Given the description of an element on the screen output the (x, y) to click on. 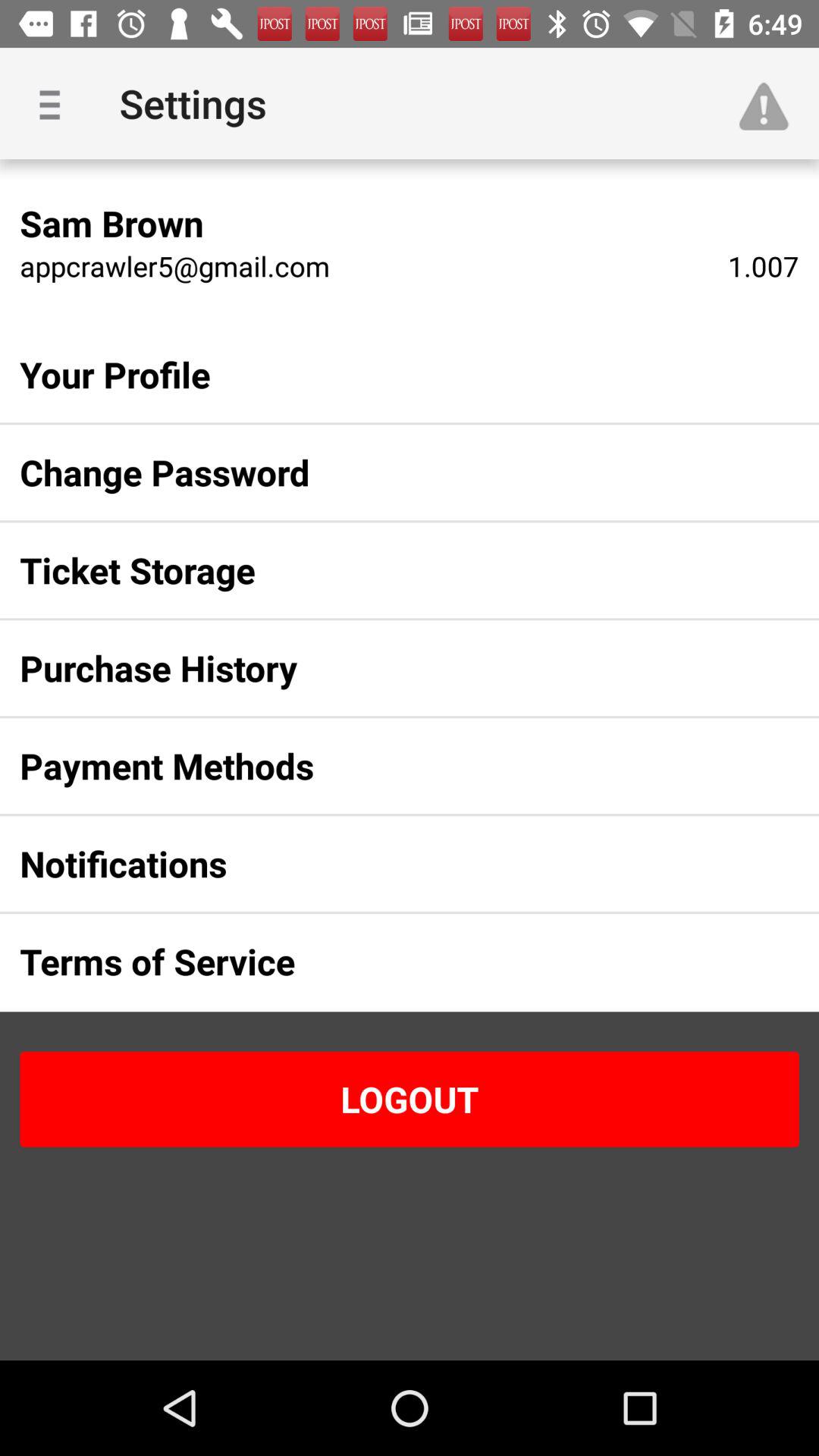
jump until 1.007 (763, 265)
